Given the description of an element on the screen output the (x, y) to click on. 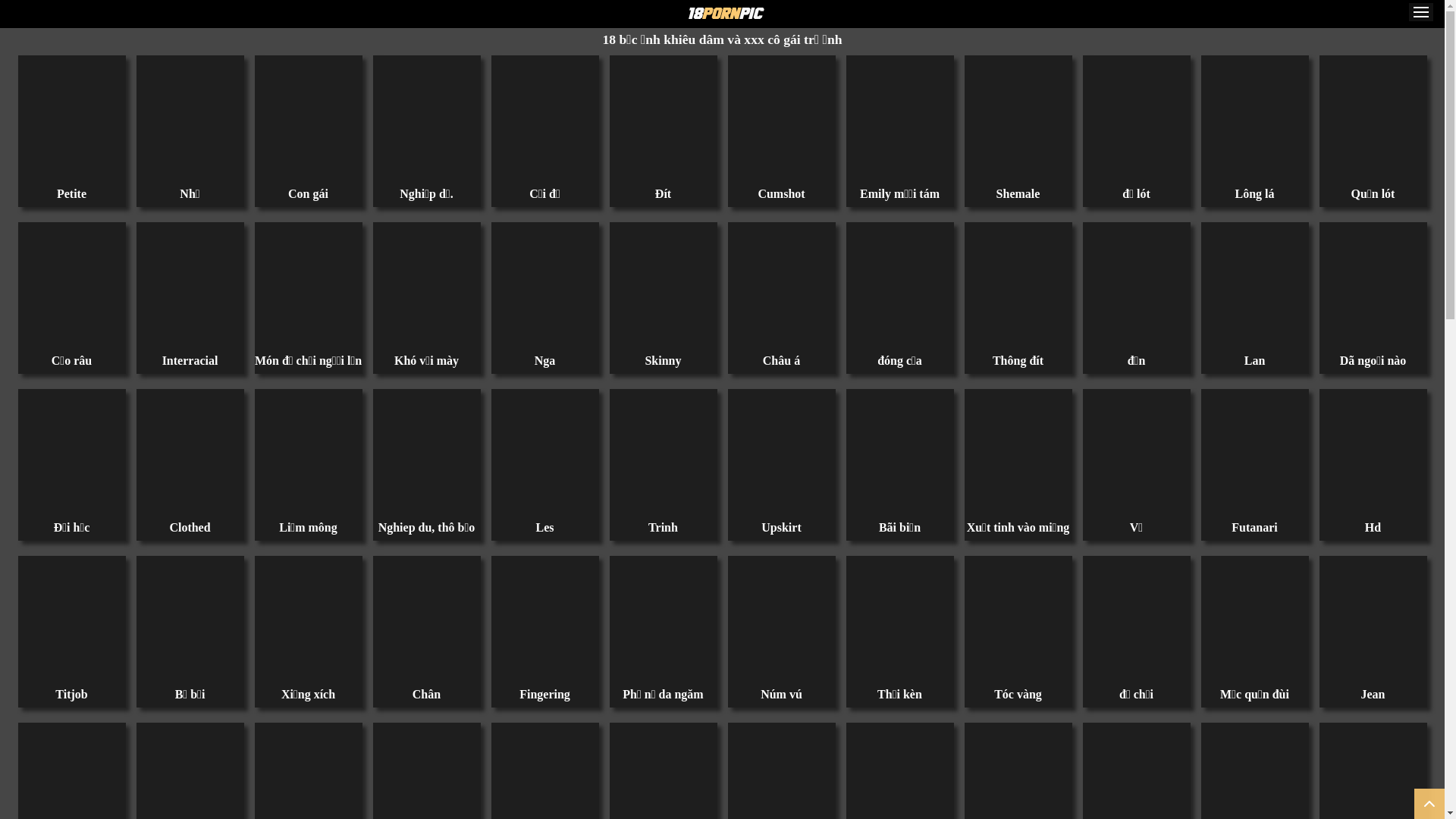
Cumshot Element type: text (781, 119)
Interracial Element type: text (190, 286)
Trinh Element type: text (663, 453)
Petite Element type: text (71, 119)
Nga Element type: text (545, 286)
Les Element type: text (545, 453)
Hd Element type: text (1373, 453)
Futanari Element type: text (1254, 453)
Fingering Element type: text (545, 619)
Jean Element type: text (1373, 619)
Skinny Element type: text (663, 286)
Clothed Element type: text (190, 453)
Upskirt Element type: text (781, 453)
Titjob Element type: text (71, 619)
Lan Element type: text (1254, 286)
Shemale Element type: text (1018, 119)
